Given the description of an element on the screen output the (x, y) to click on. 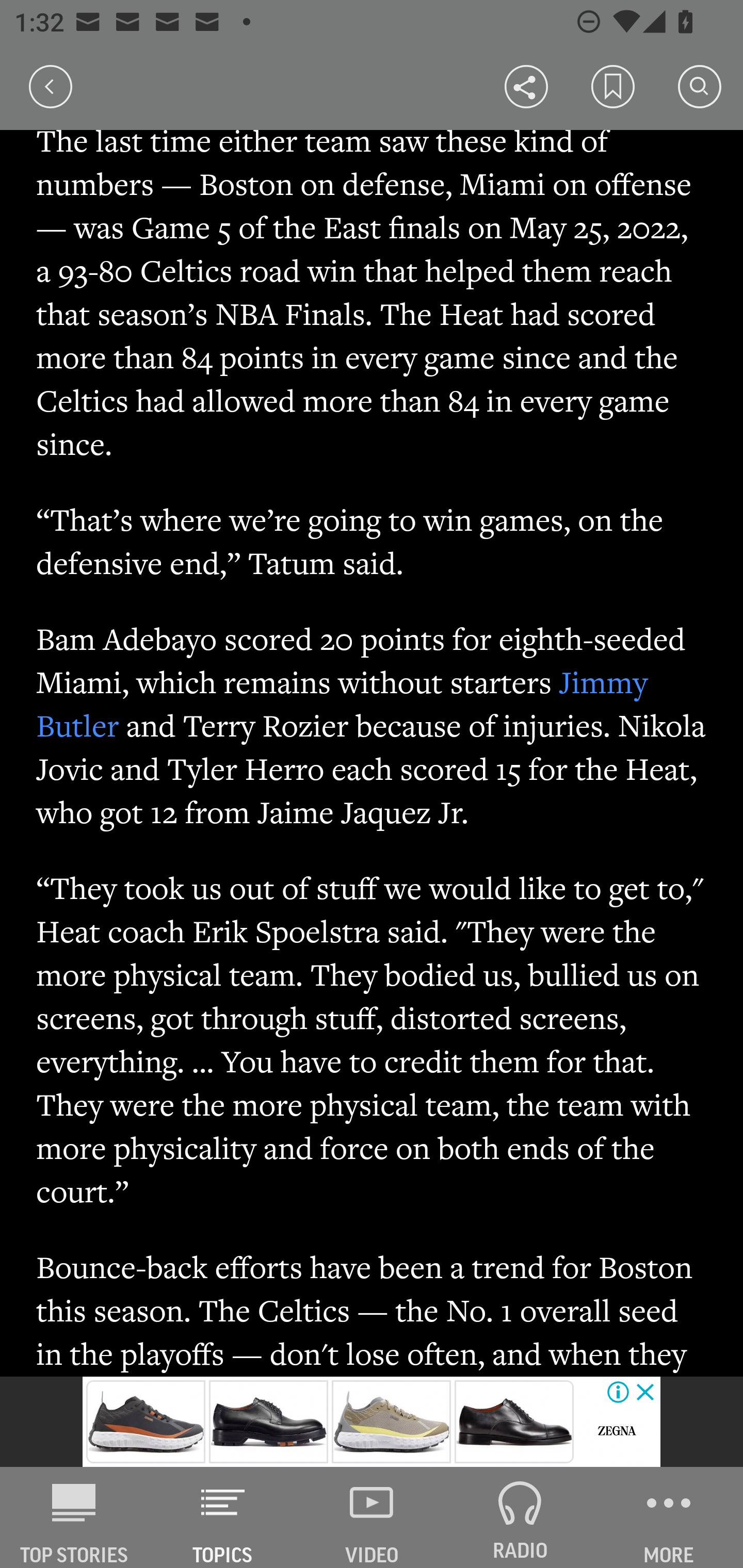
Jimmy Butler (341, 703)
AP News TOP STORIES (74, 1517)
TOPICS (222, 1517)
VIDEO (371, 1517)
RADIO (519, 1517)
MORE (668, 1517)
